Given the description of an element on the screen output the (x, y) to click on. 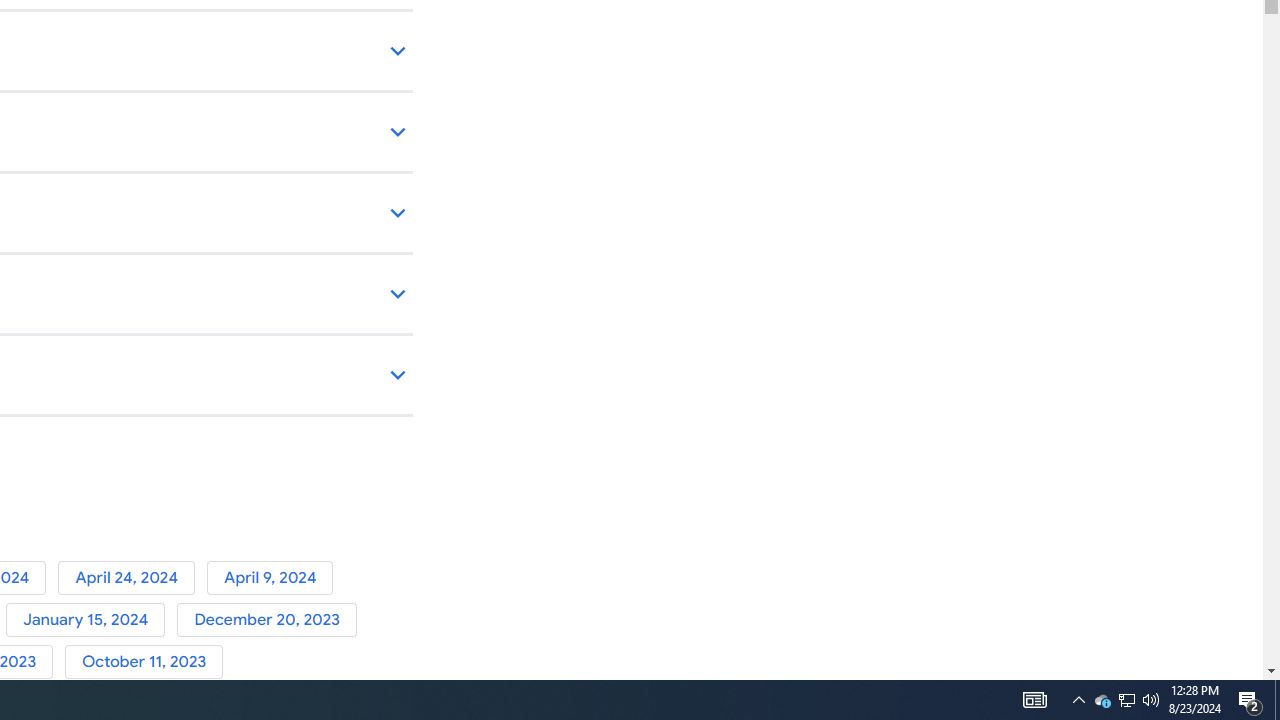
April 24, 2024 (132, 577)
October 11, 2023 (147, 661)
January 15, 2024 (91, 620)
December 20, 2023 (270, 620)
April 9, 2024 (273, 577)
